Given the description of an element on the screen output the (x, y) to click on. 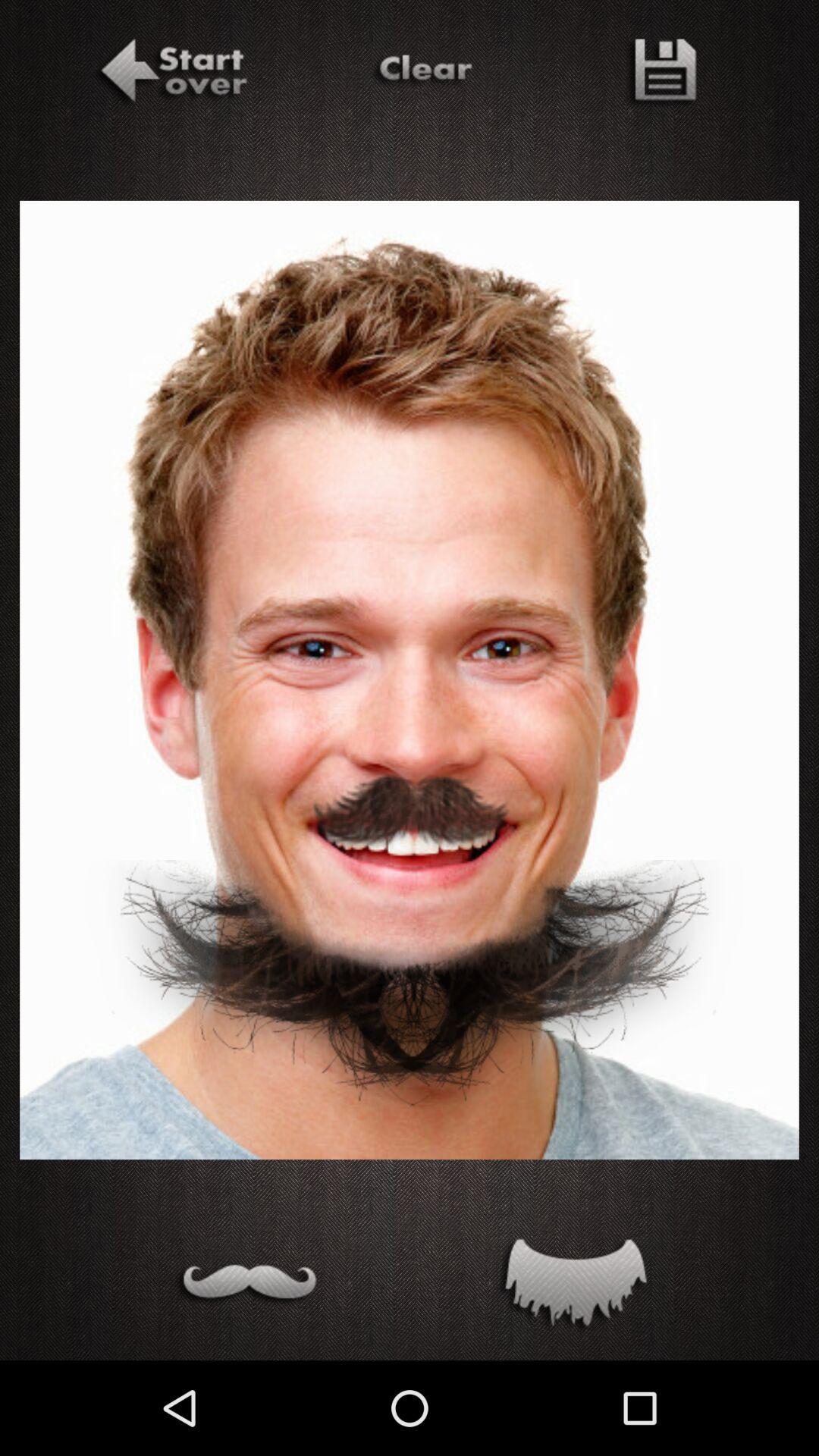
start over adding facial hairs (170, 73)
